Given the description of an element on the screen output the (x, y) to click on. 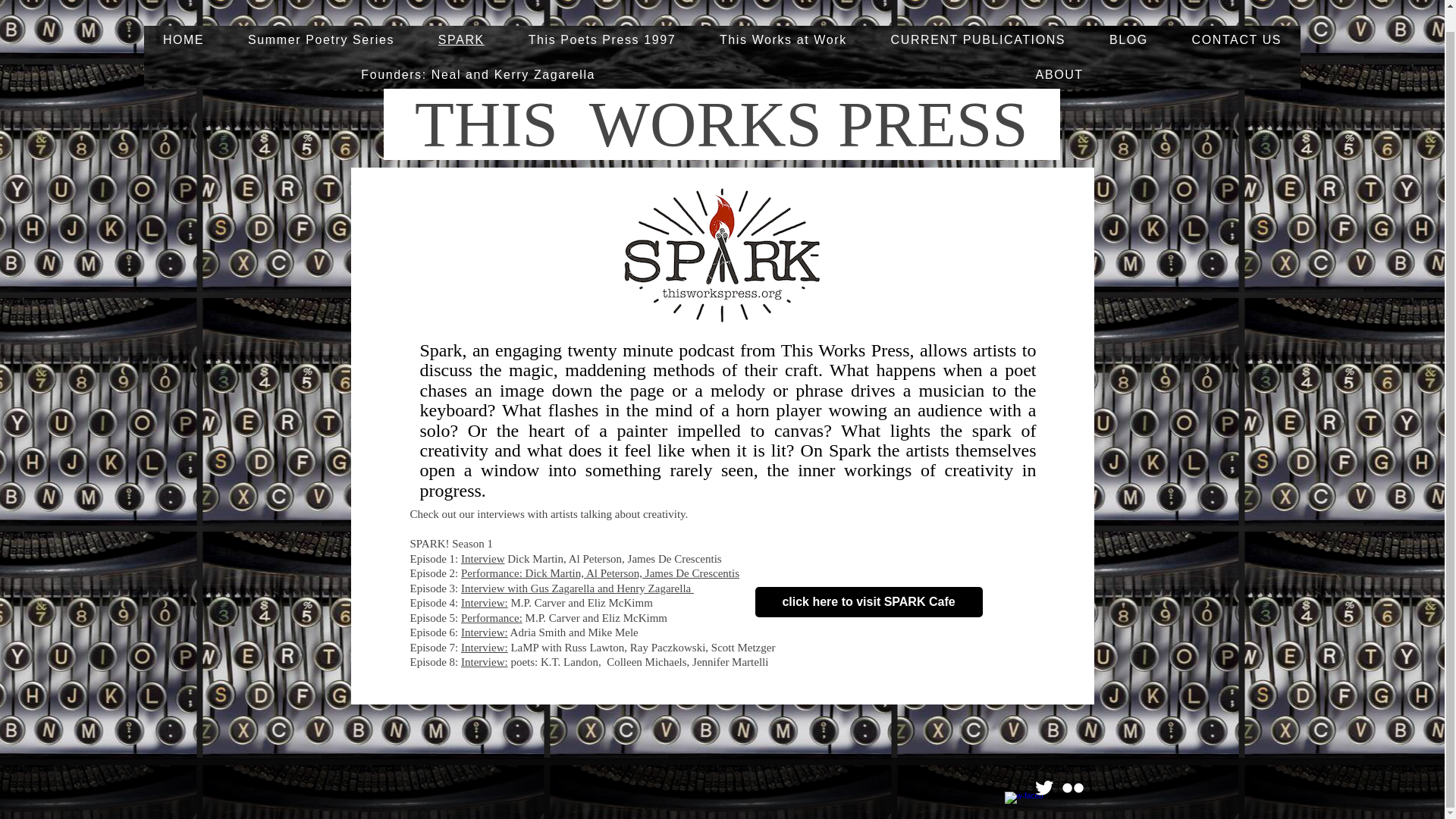
Performance: Dick Martin, Al Peterson, James De Crescentis (600, 573)
Interview: (484, 603)
click here to visit SPARK Cafe (868, 602)
SPARK (461, 39)
Interview: (484, 647)
HOME (183, 39)
Interview: (484, 662)
ABOUT (1059, 74)
This Poets Press 1997 (601, 39)
Summer Poetry Series (320, 39)
